Given the description of an element on the screen output the (x, y) to click on. 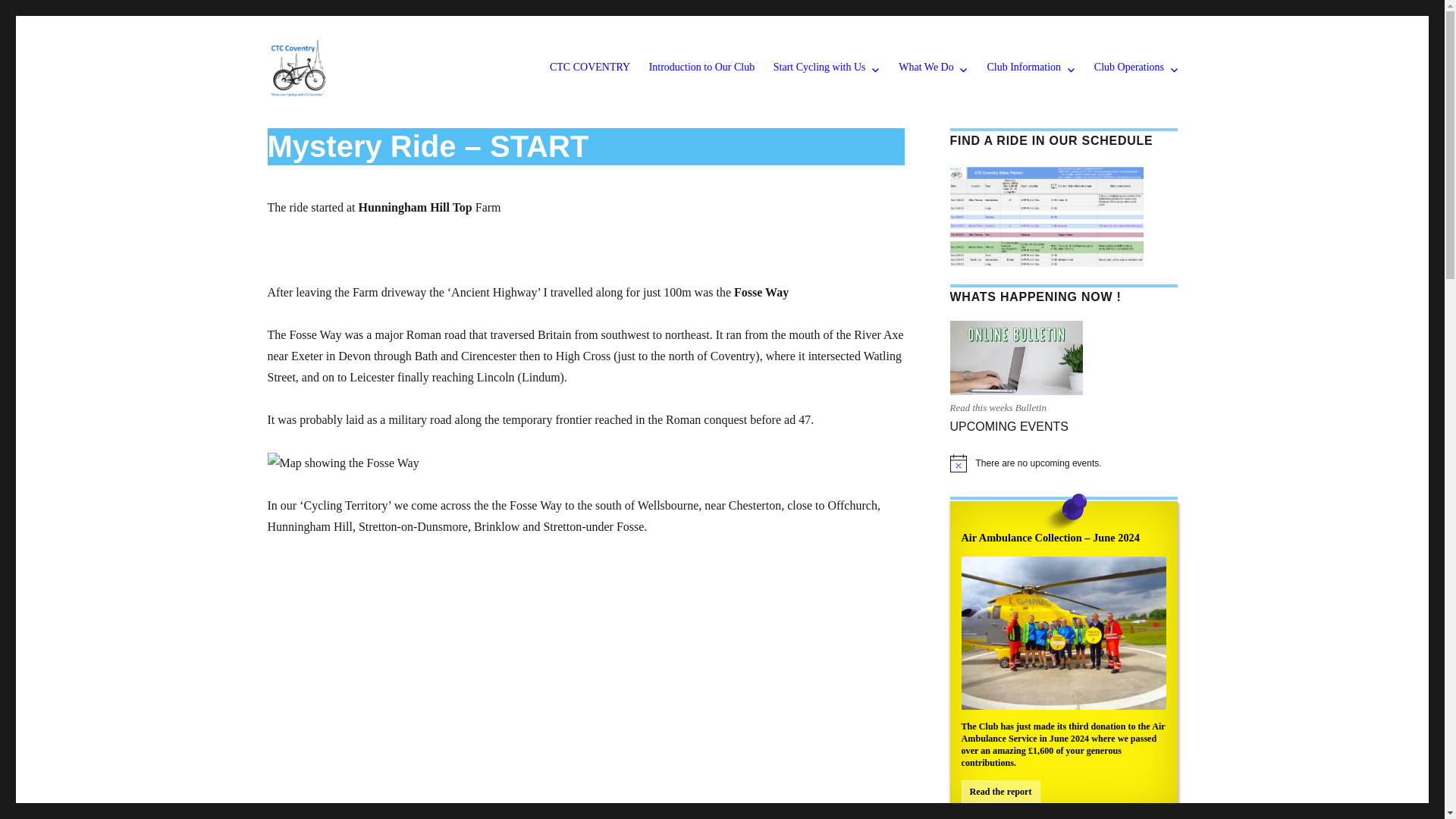
Club Information (1030, 67)
CTC COVENTRY (590, 67)
What We Do (932, 67)
Start Cycling with Us (826, 67)
Introduction to Our Club (700, 67)
